Given the description of an element on the screen output the (x, y) to click on. 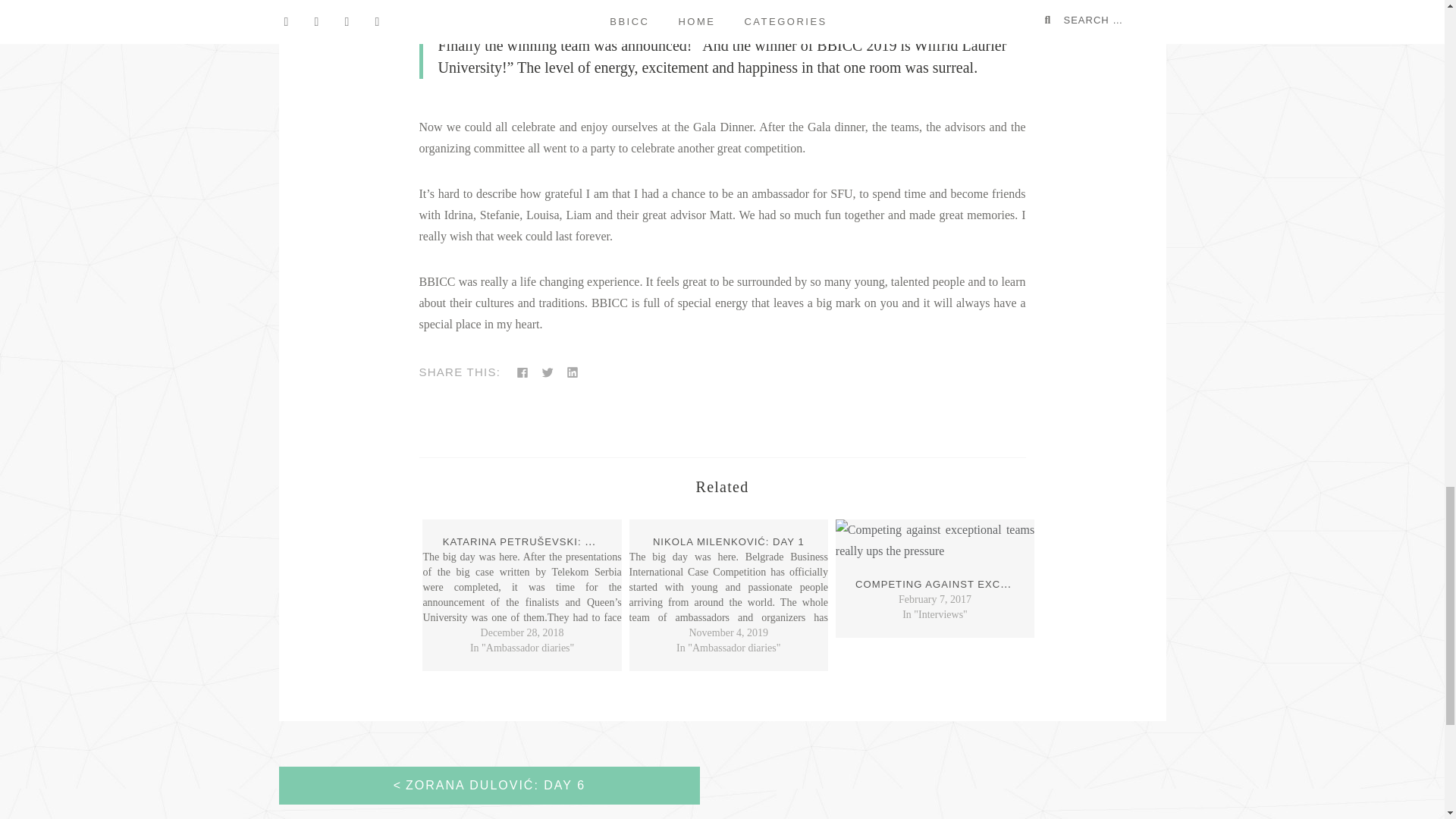
Click to share on LinkedIn (572, 371)
COMPETING AGAINST EXCEPTIONAL TEAMS REALLY UPS THE PRESSURE (1056, 583)
Click to share on Twitter (547, 371)
Click to share on Facebook (522, 371)
